Given the description of an element on the screen output the (x, y) to click on. 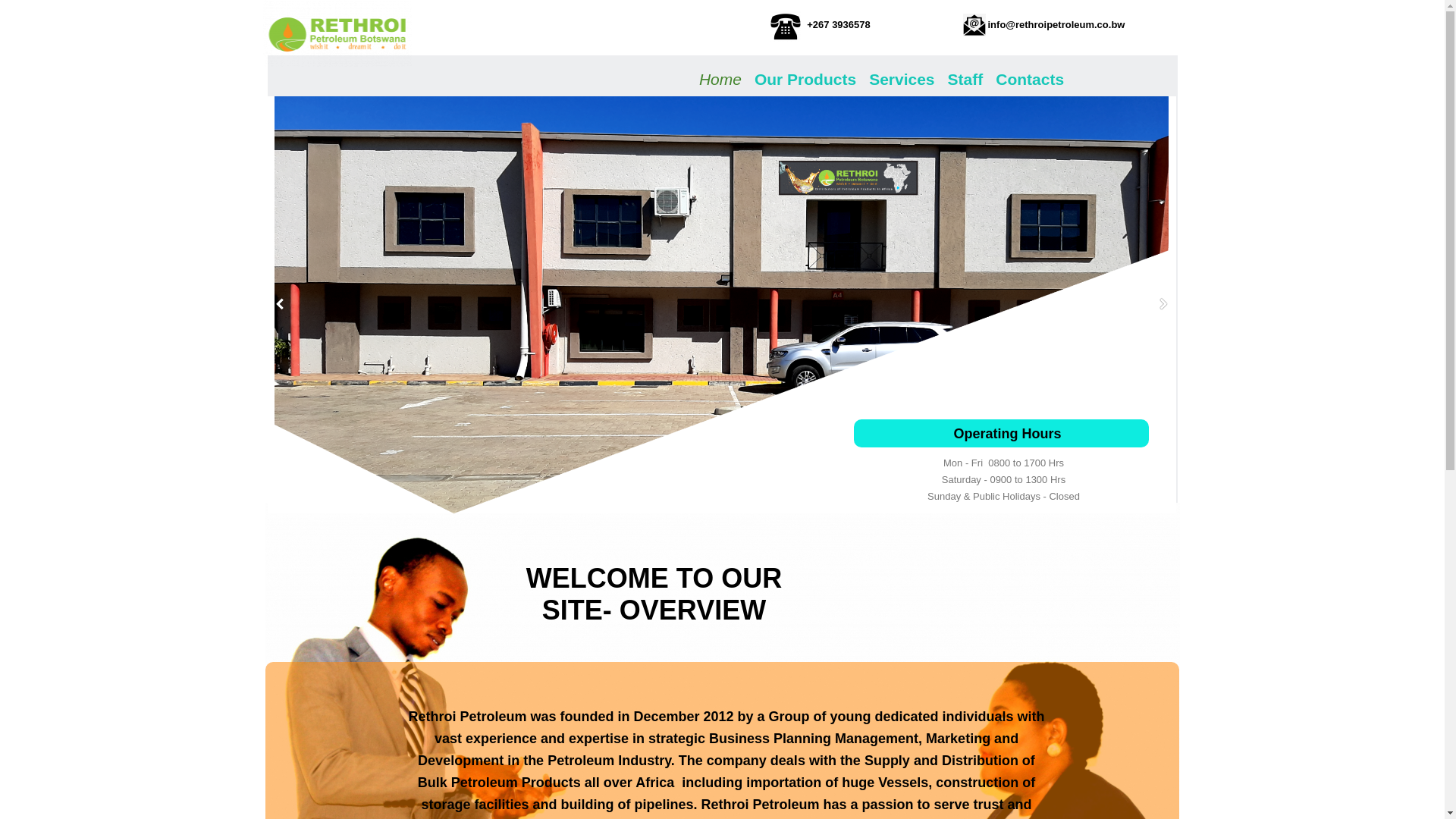
LinkedIn Embedded Content Element type: hover (320, 721)
Services Element type: text (901, 77)
Home Element type: text (720, 77)
Our Products Element type: text (805, 77)
Contacts Element type: text (1029, 77)
Staff Element type: text (965, 77)
